Given the description of an element on the screen output the (x, y) to click on. 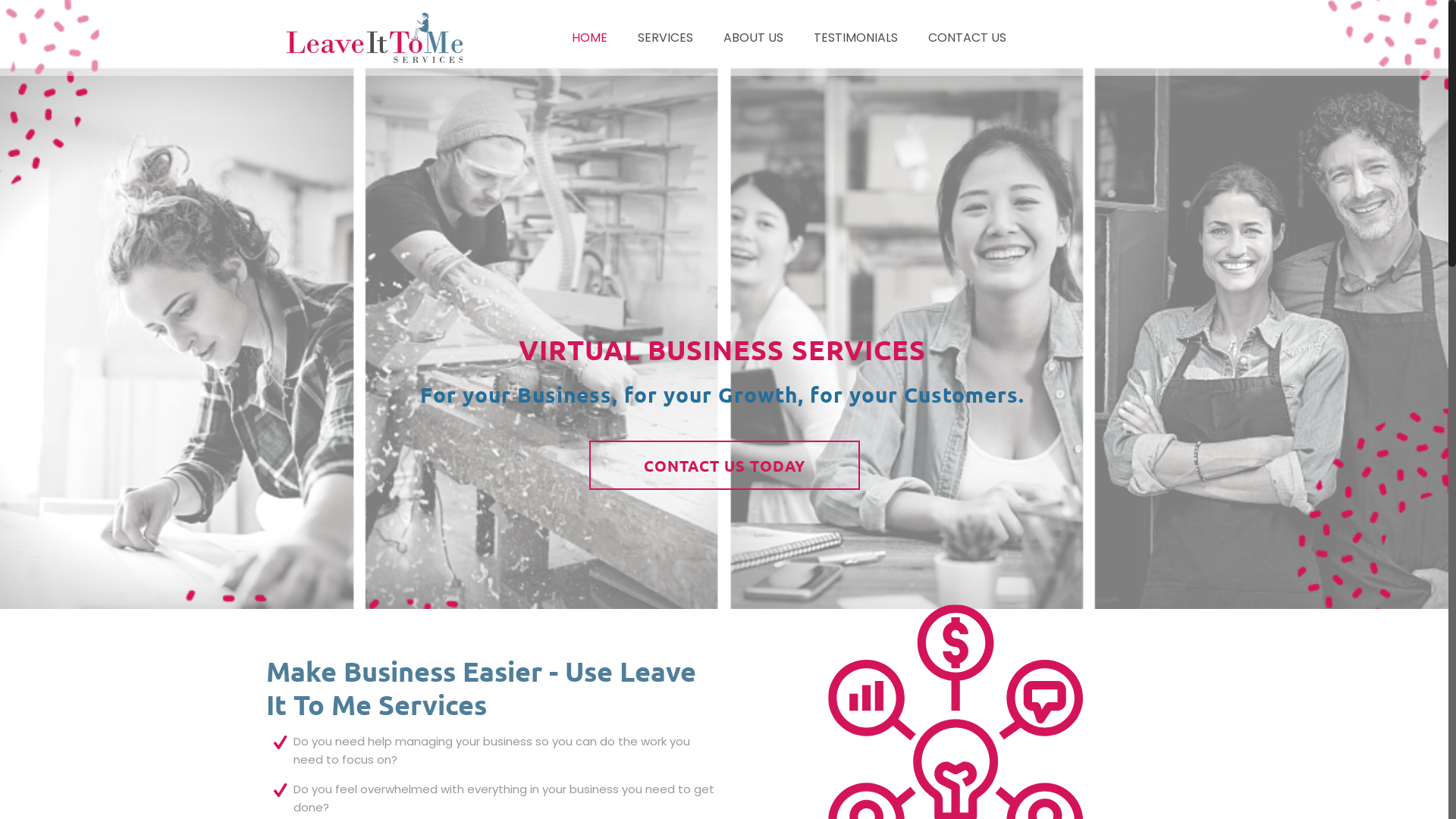
SERVICES Element type: text (665, 37)
TESTIMONIALS Element type: text (855, 37)
CONTACT US TODAY Element type: text (724, 464)
Leave It To Me Services Element type: hover (375, 37)
ABOUT US Element type: text (753, 37)
HOME Element type: text (589, 37)
CONTACT US Element type: text (967, 37)
